Given the description of an element on the screen output the (x, y) to click on. 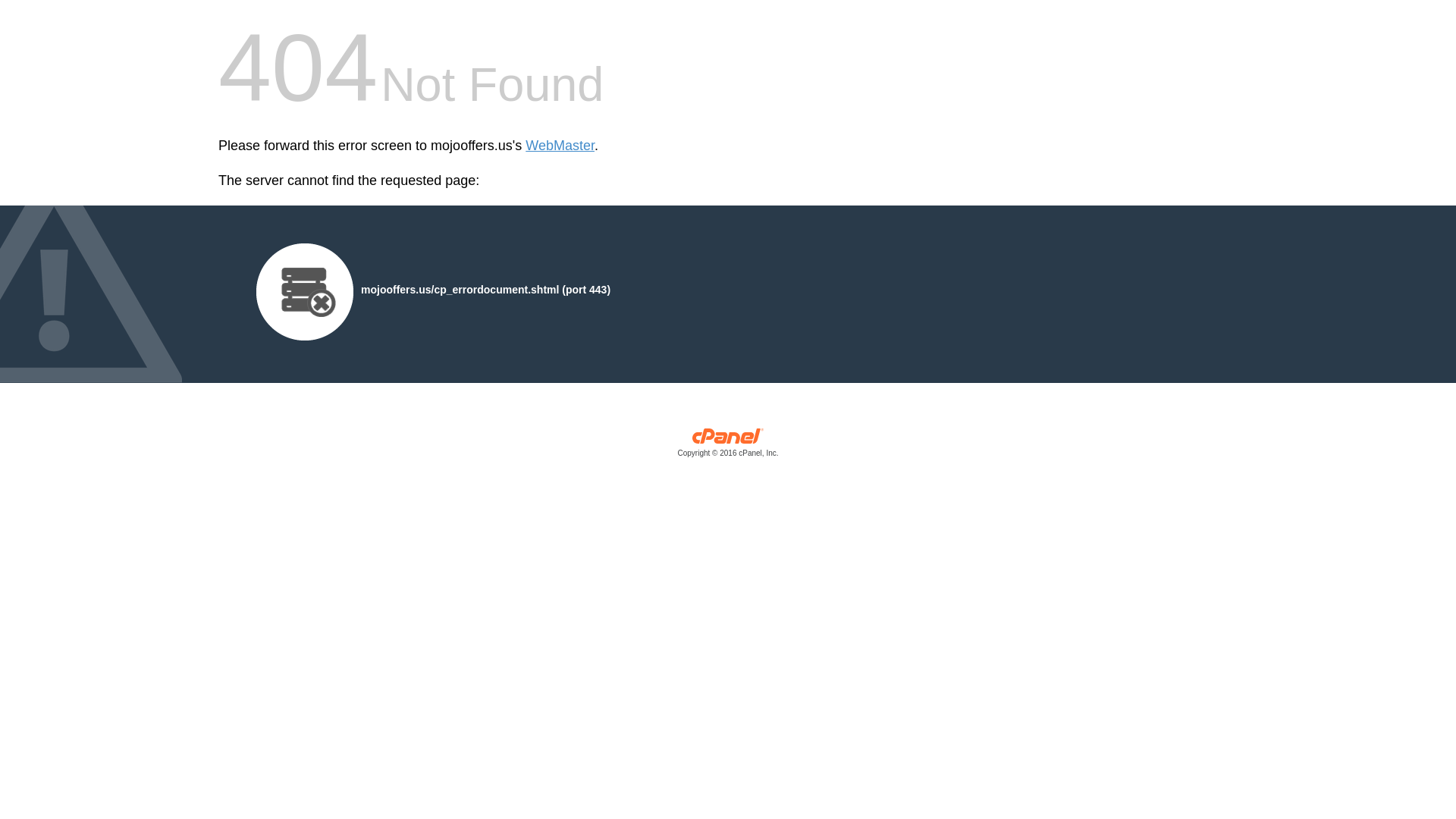
cPanel, Inc. (727, 446)
WebMaster (559, 145)
